Given the description of an element on the screen output the (x, y) to click on. 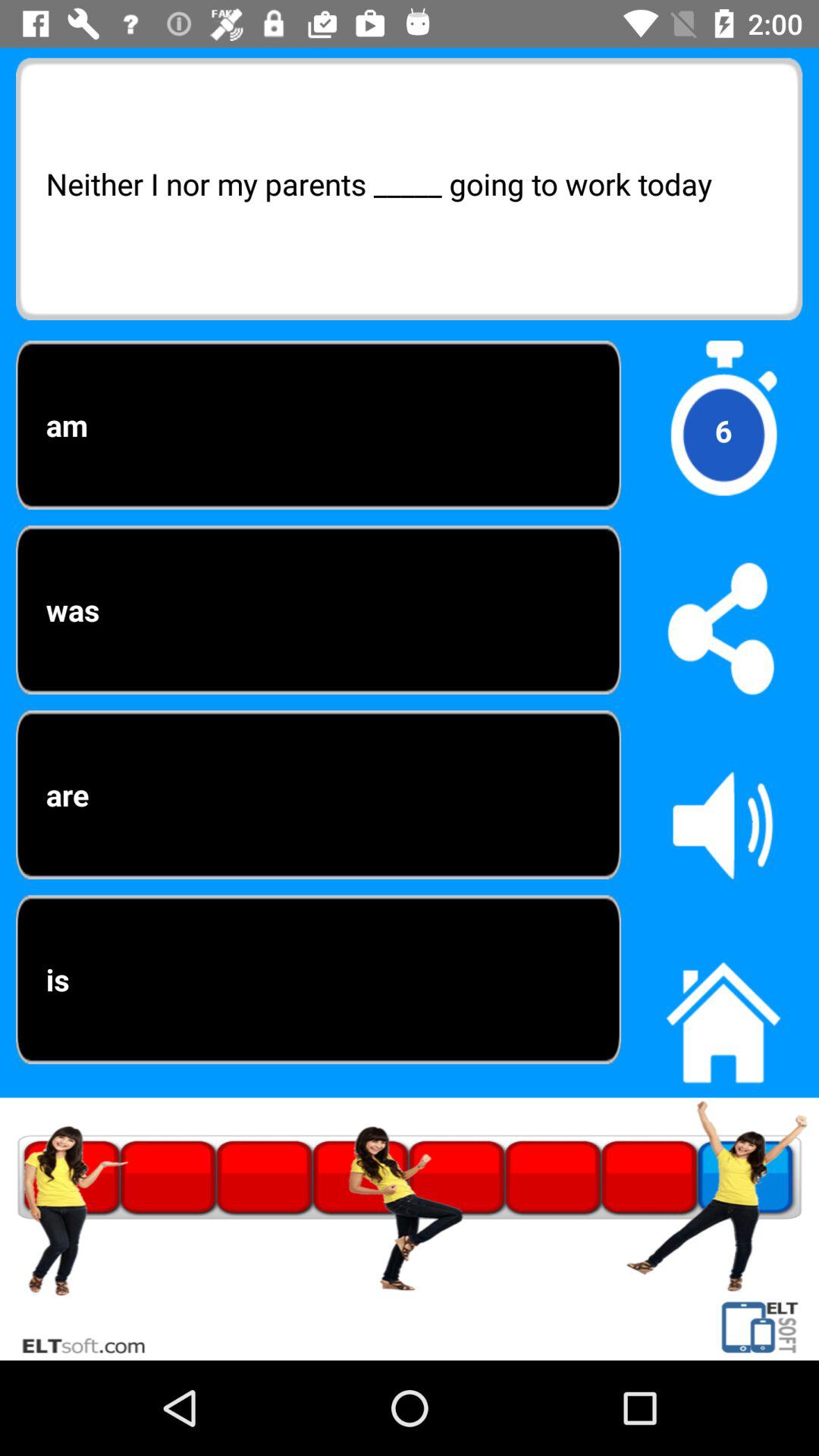
share the article (723, 627)
